Given the description of an element on the screen output the (x, y) to click on. 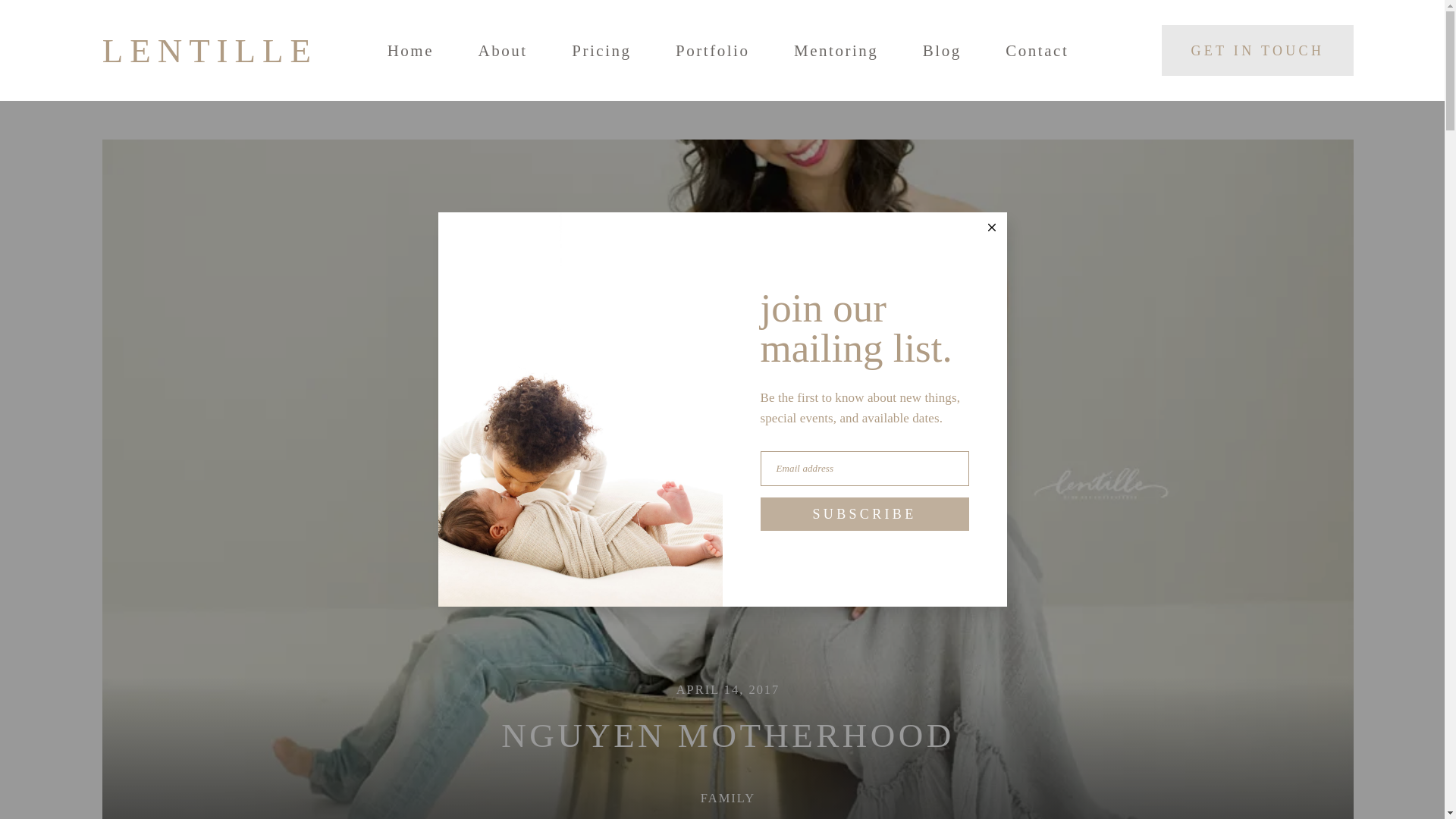
FAMILY (727, 797)
About (503, 50)
Portfolio (712, 50)
Blog (941, 50)
Mentoring (835, 50)
GET IN TOUCH (1257, 50)
Home (410, 50)
Contact (1037, 50)
Pricing (601, 50)
LENTILLE (210, 50)
